Given the description of an element on the screen output the (x, y) to click on. 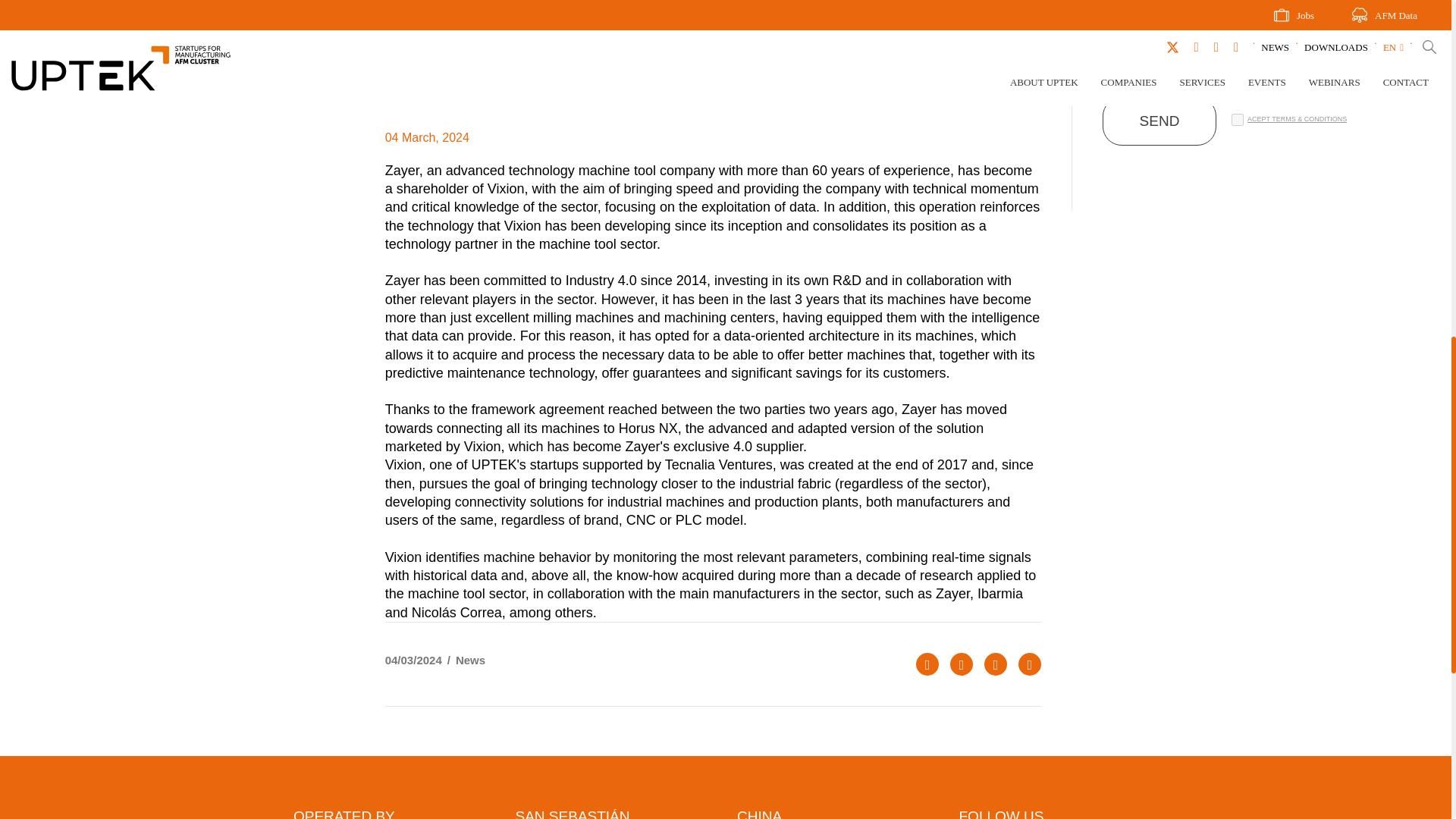
on (1237, 119)
